Given the description of an element on the screen output the (x, y) to click on. 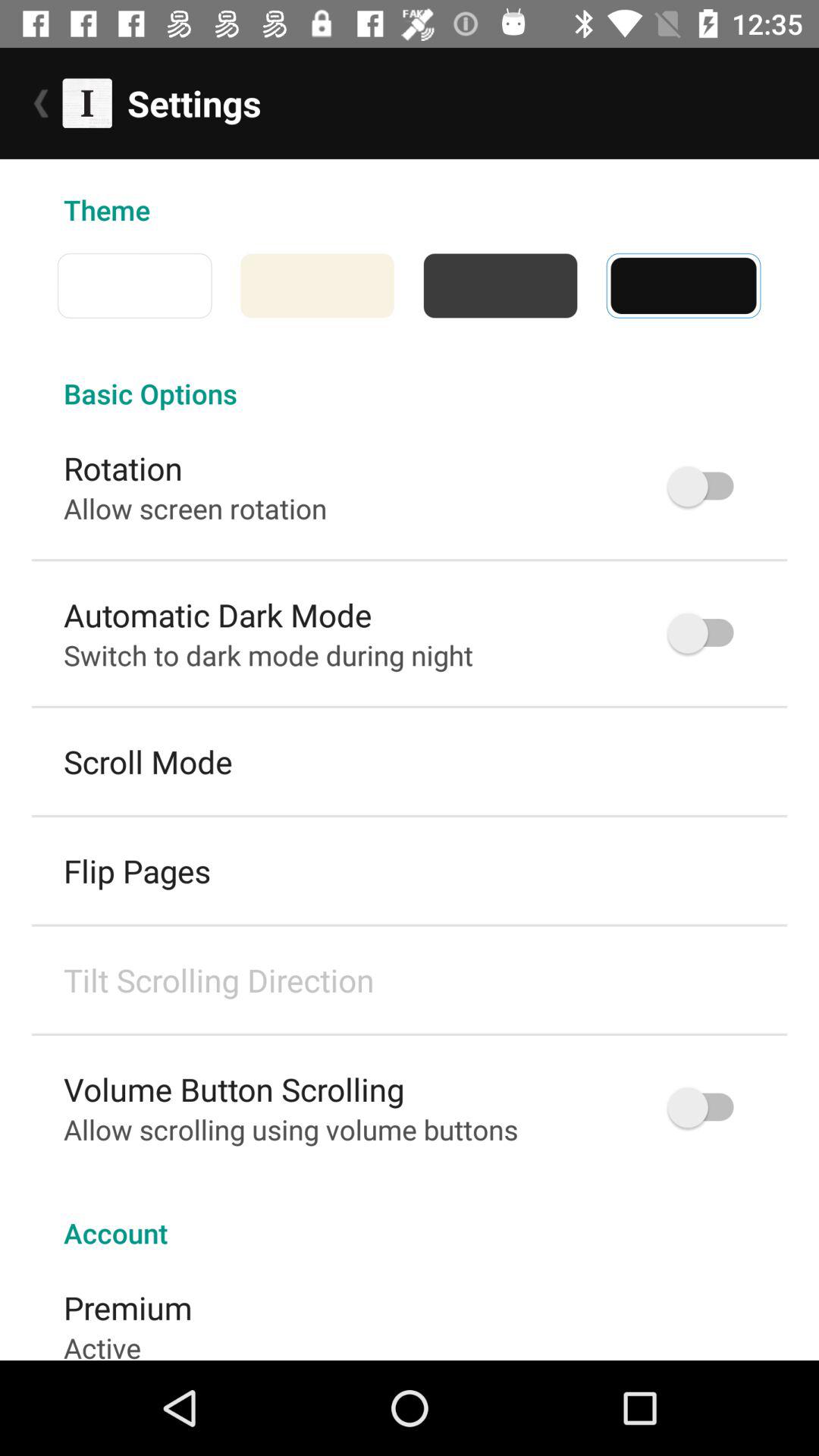
choose the allow screen rotation icon (195, 508)
